Given the description of an element on the screen output the (x, y) to click on. 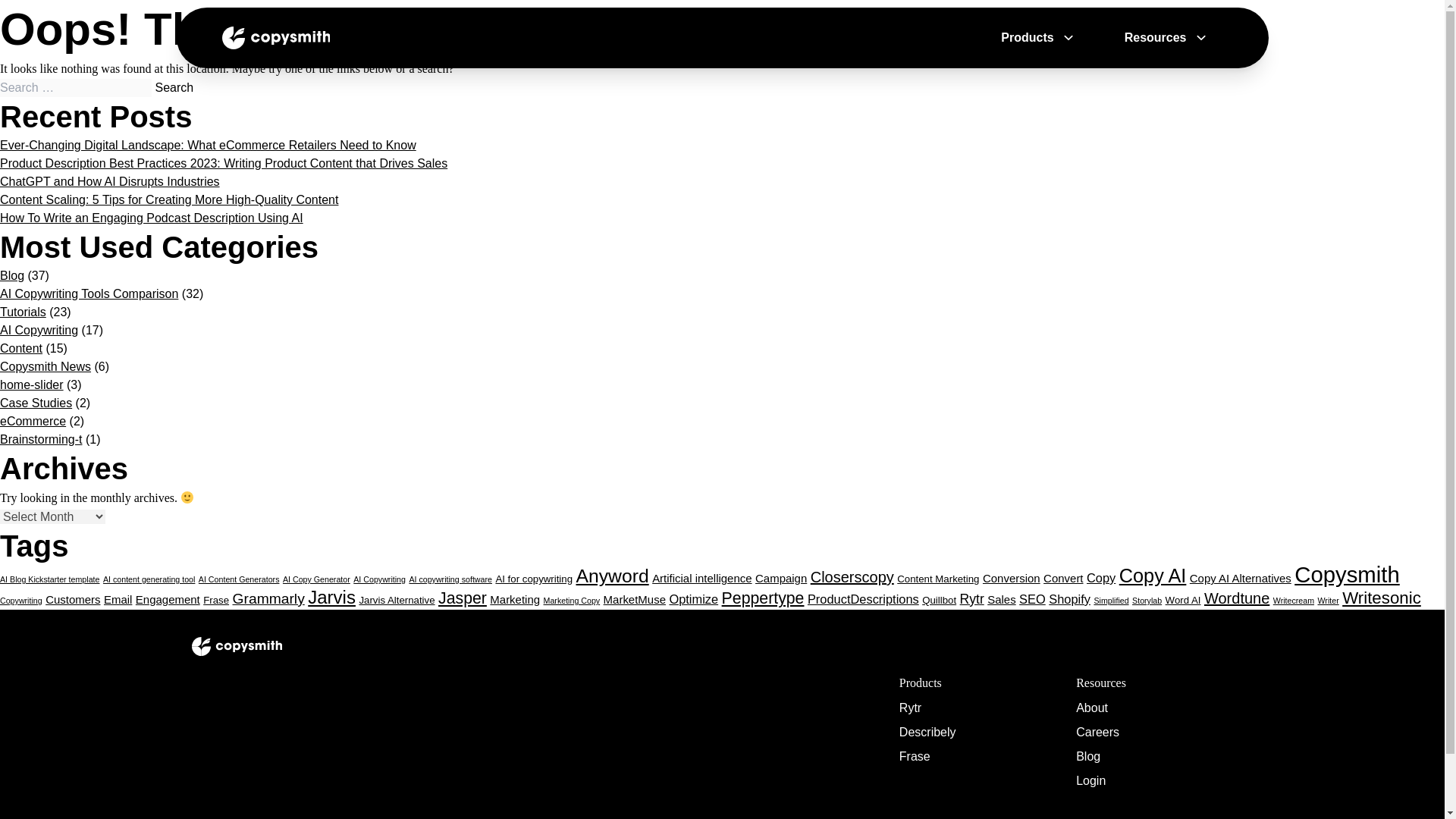
AI Blog Kickstarter template (49, 578)
Content (21, 348)
Search (173, 87)
Search (173, 87)
Resources (1155, 37)
AI content generating tool (149, 578)
Tutorials (23, 311)
AI Copywriting (39, 329)
How To Write an Engaging Podcast Description Using AI (151, 217)
eCommerce (32, 420)
Case Studies (35, 402)
AI Copywriting Tools Comparison (88, 293)
Products (1026, 37)
